Given the description of an element on the screen output the (x, y) to click on. 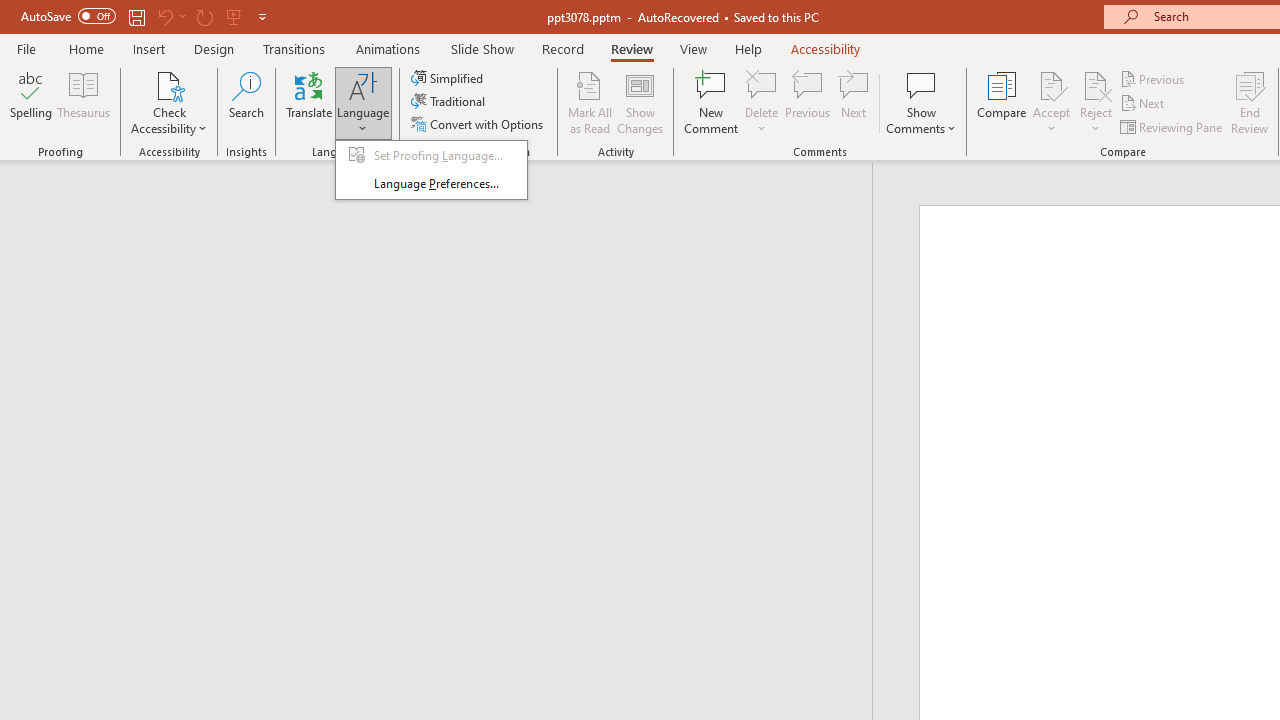
Translate (309, 102)
Delete (762, 84)
Thesaurus... (83, 102)
Mark All as Read (589, 102)
Reject Change (1096, 84)
Compare (1002, 102)
Search (246, 102)
Check Accessibility (169, 84)
Show Comments (921, 84)
